Given the description of an element on the screen output the (x, y) to click on. 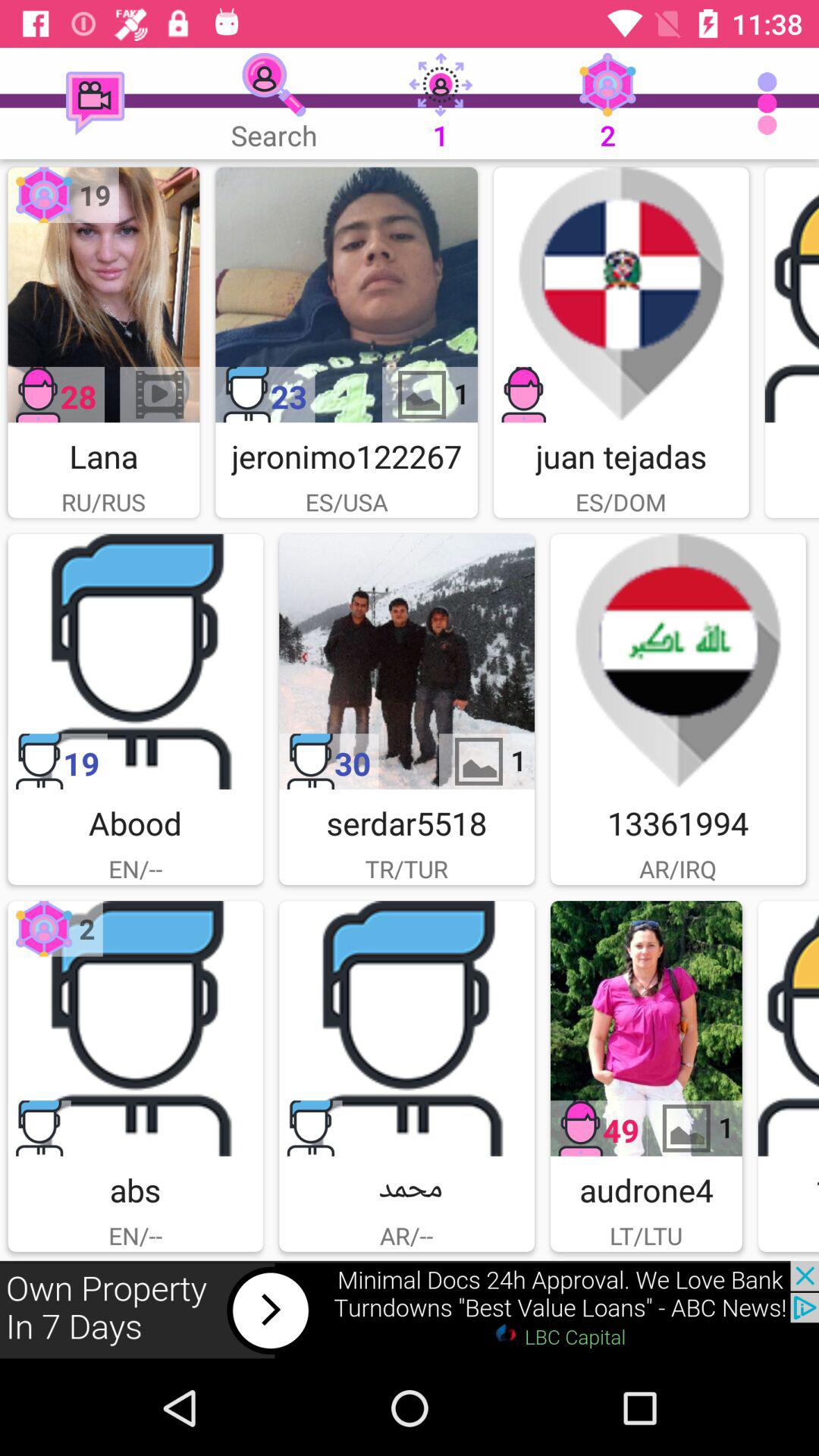
loads a person 's profile (791, 294)
